Given the description of an element on the screen output the (x, y) to click on. 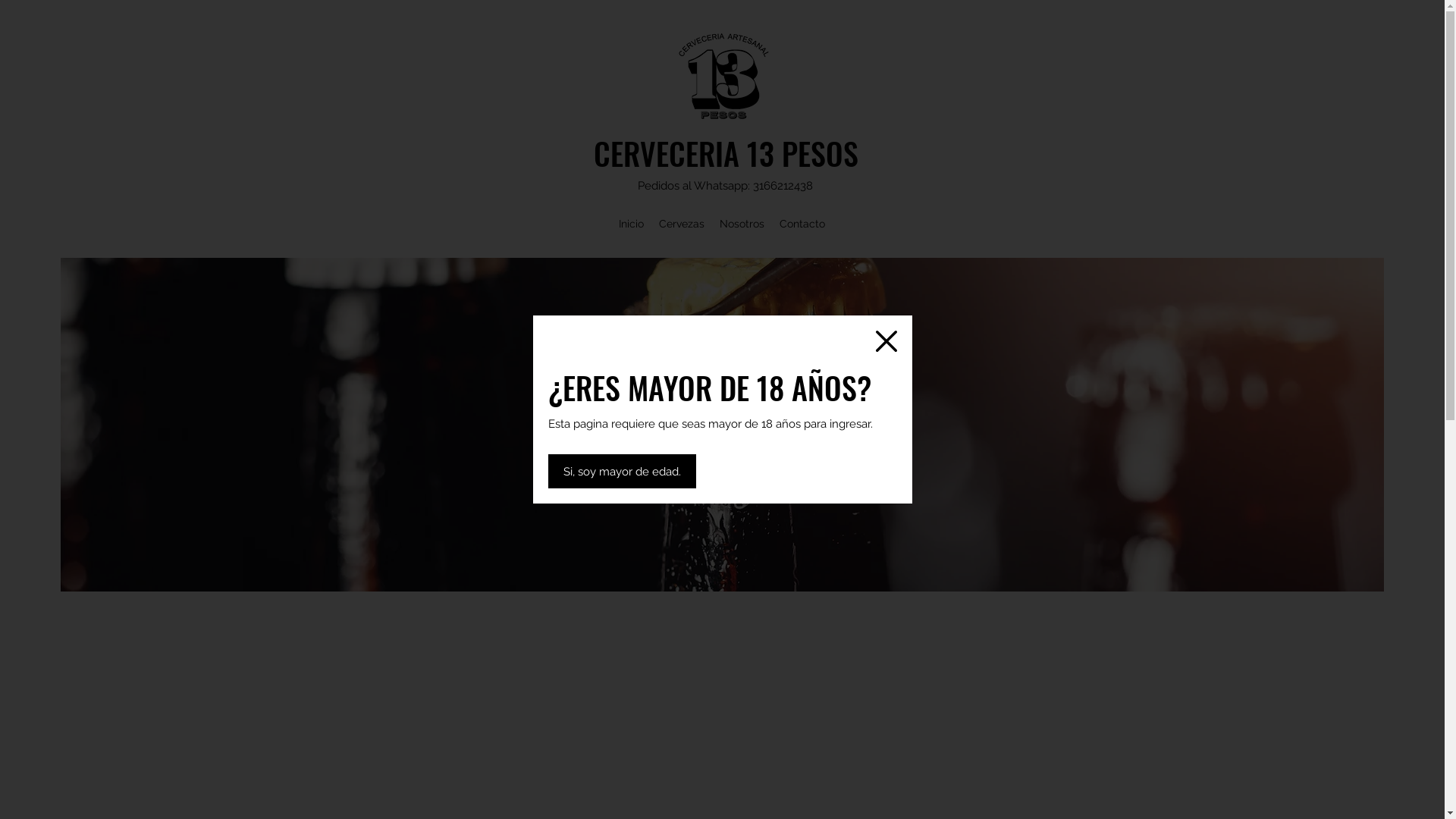
Nosotros Element type: text (741, 223)
Volver al sitio Element type: hover (885, 340)
Si, soy mayor de edad. Element type: text (621, 471)
Inicio Element type: text (631, 223)
CERVECERIA 13 PESOS Element type: text (725, 152)
Contacto Element type: text (801, 223)
Cervezas Element type: text (681, 223)
